Given the description of an element on the screen output the (x, y) to click on. 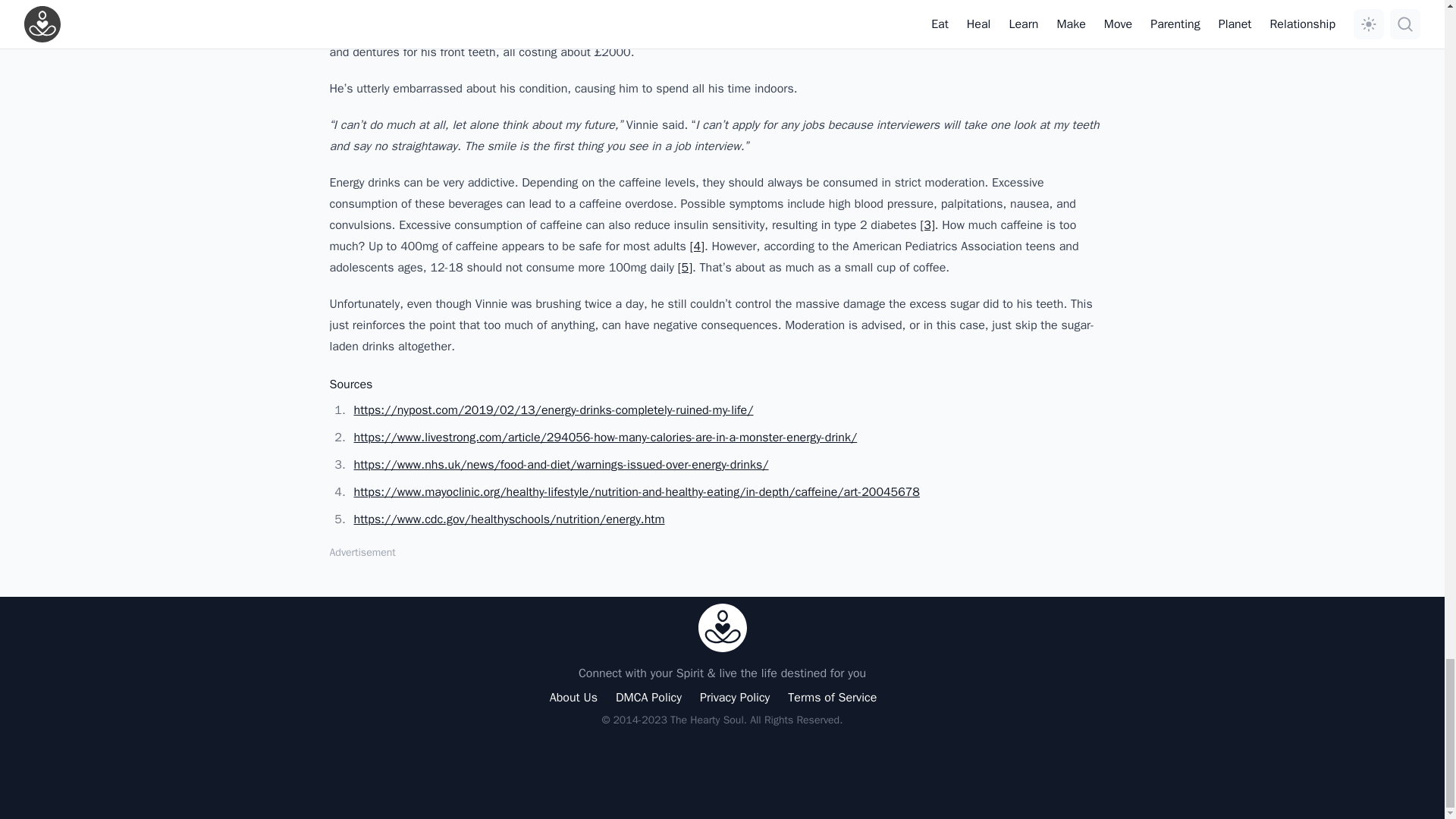
About Us (573, 697)
Terms of Service (831, 697)
DMCA Policy (648, 697)
Privacy Policy (735, 697)
